Given the description of an element on the screen output the (x, y) to click on. 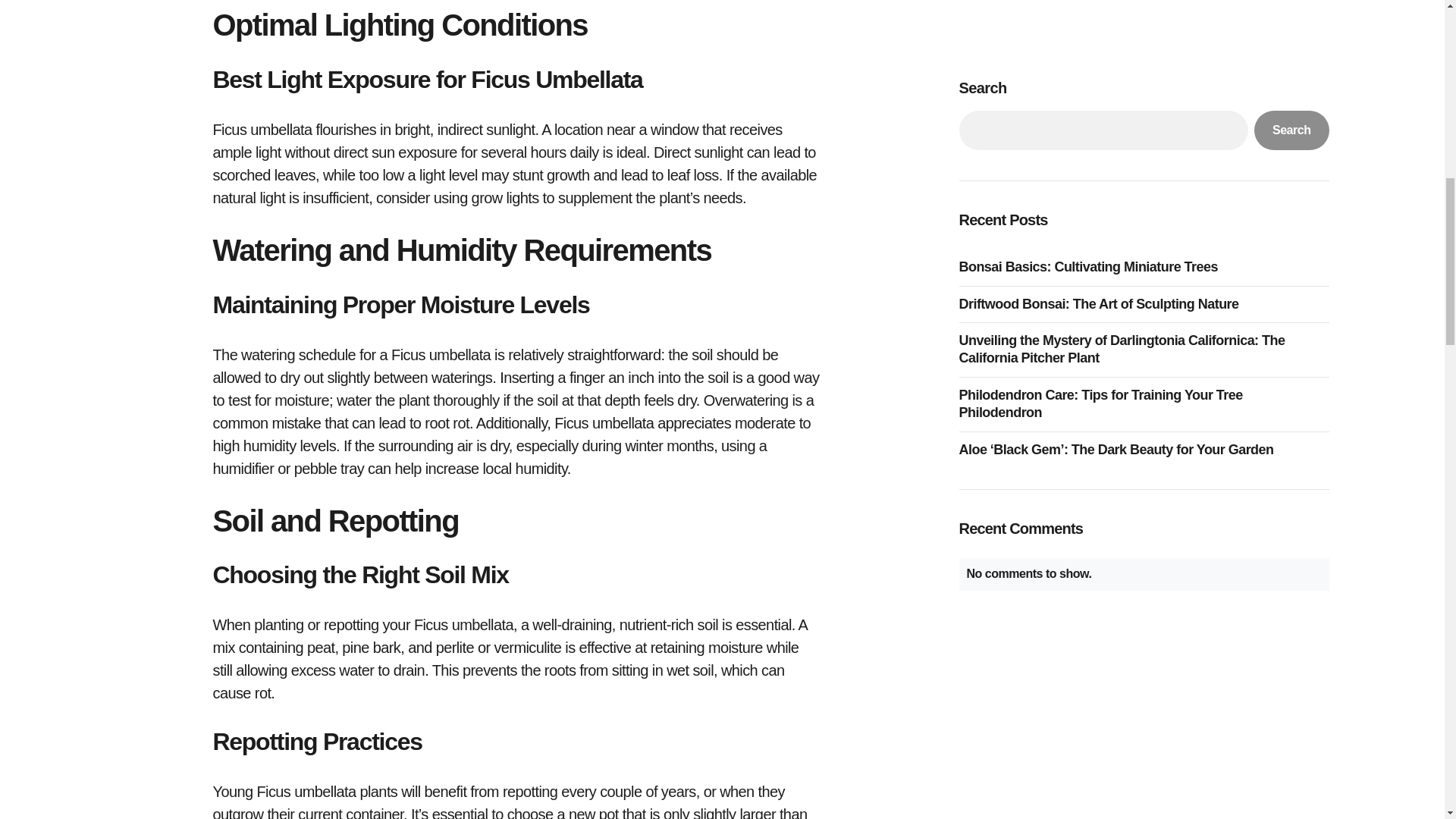
Driftwood Bonsai: The Art of Sculpting Nature (1102, 1)
Philodendron Care: Tips for Training Your Tree Philodendron (1142, 94)
